Given the description of an element on the screen output the (x, y) to click on. 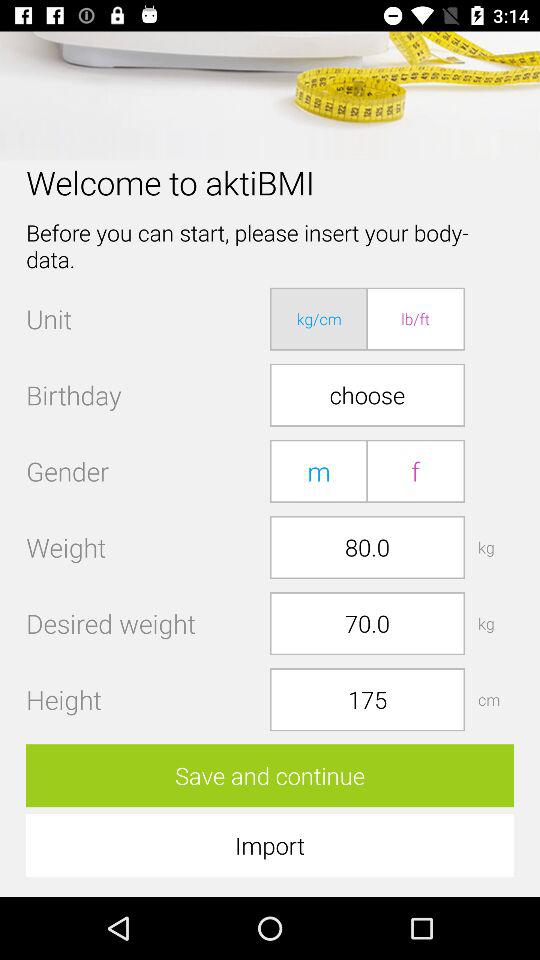
open the icon to the right of height icon (367, 699)
